Given the description of an element on the screen output the (x, y) to click on. 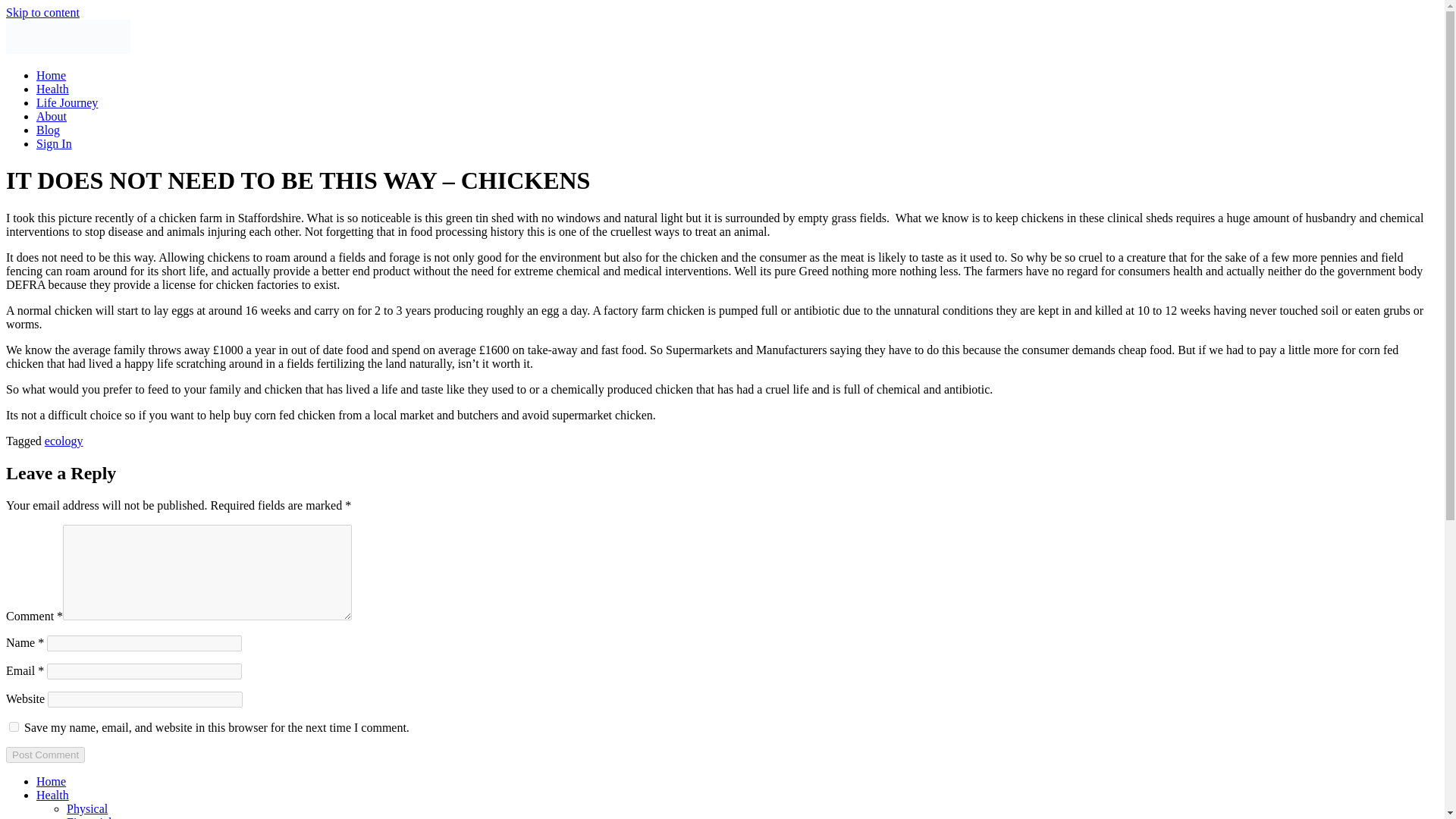
Blog (47, 129)
Post Comment (44, 754)
About (51, 115)
Financial (89, 817)
Skip to content (42, 11)
Sign In (53, 143)
Physical (86, 808)
Health (52, 794)
Home (50, 74)
ecology (63, 440)
Life Journey (66, 102)
yes (13, 726)
Home (50, 780)
Health (52, 88)
Post Comment (44, 754)
